Given the description of an element on the screen output the (x, y) to click on. 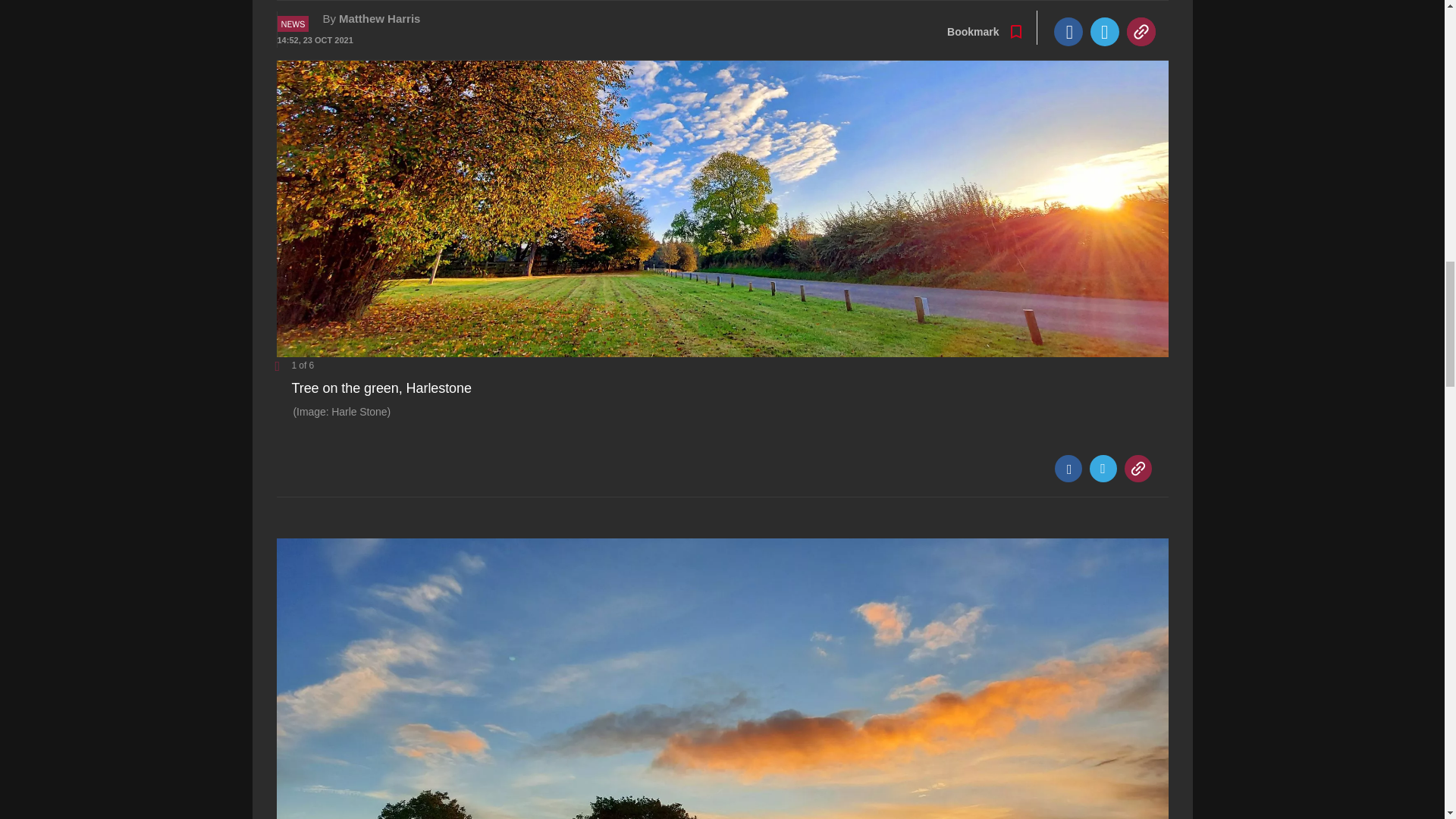
Facebook (1067, 468)
Twitter (1102, 468)
